Given the description of an element on the screen output the (x, y) to click on. 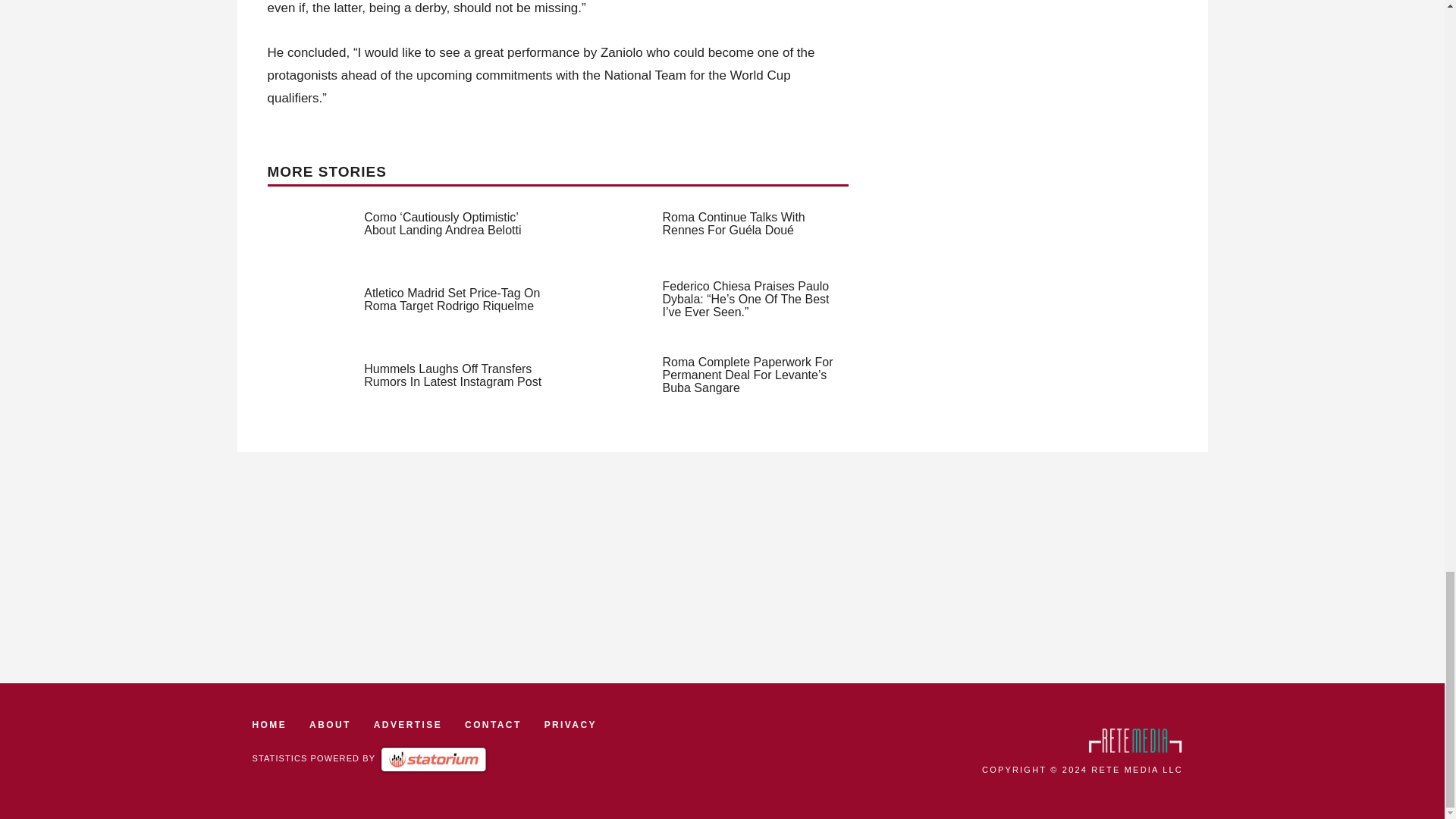
HOME (268, 725)
CONTACT (492, 725)
ABOUT (329, 725)
PRIVACY (570, 725)
ADVERTISE (408, 725)
Hummels Laughs Off Transfers Rumors In Latest Instagram Post (452, 375)
